Given the description of an element on the screen output the (x, y) to click on. 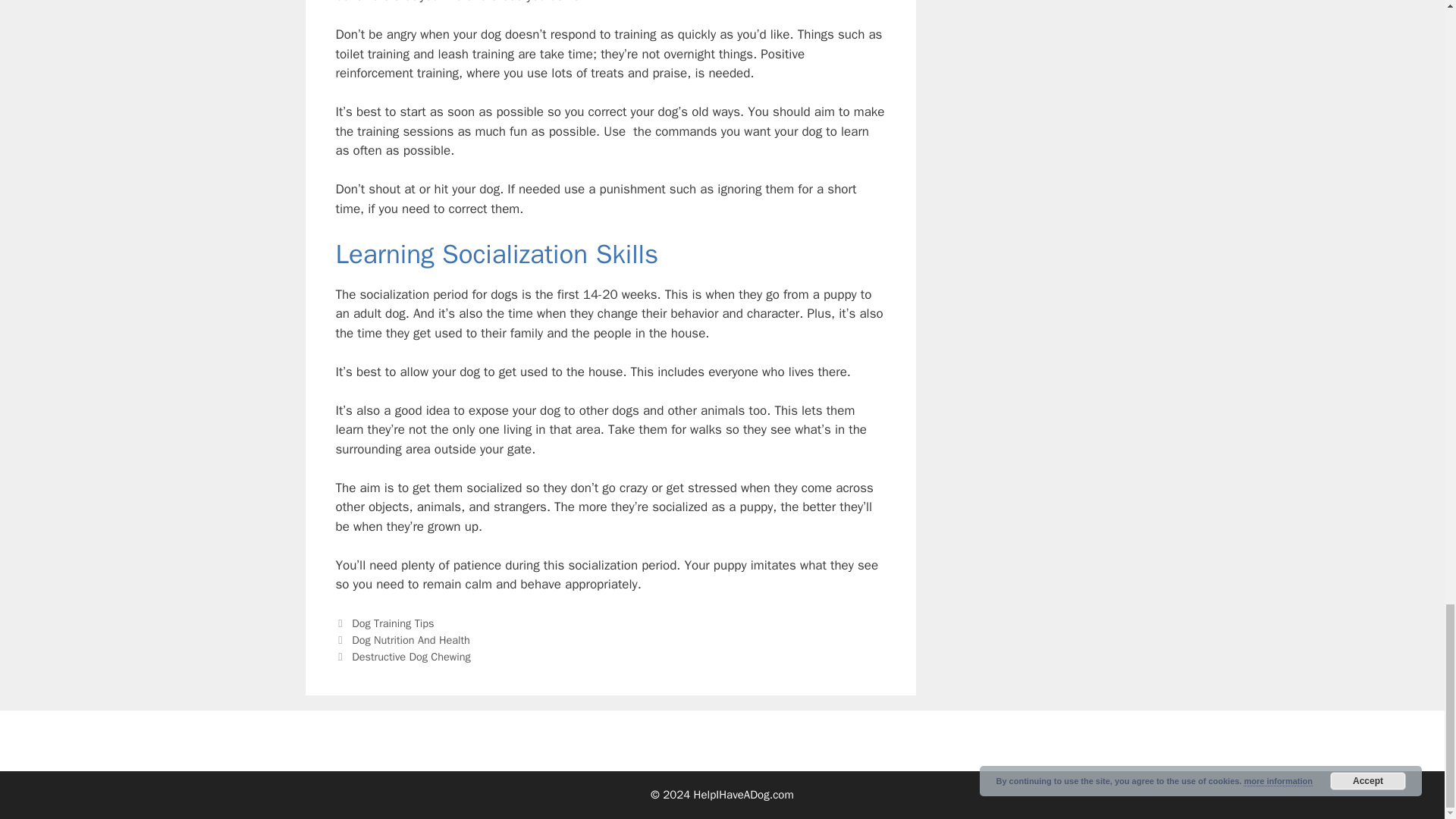
Dog Training Tips (392, 622)
Dog Nutrition And Health (411, 640)
Destructive Dog Chewing (411, 656)
